Given the description of an element on the screen output the (x, y) to click on. 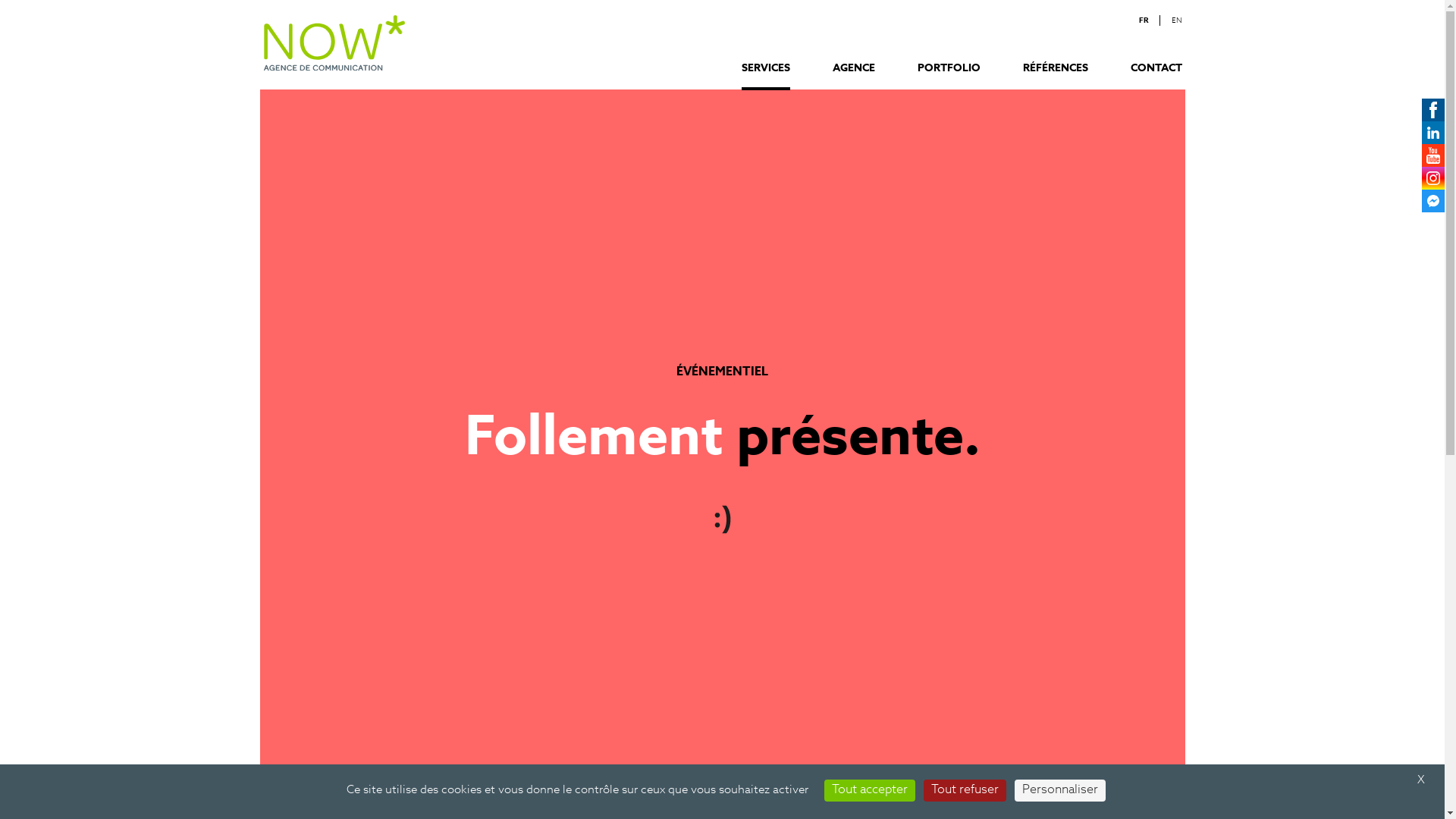
Tout accepter Element type: text (869, 790)
SERVICES Element type: text (765, 76)
AGENCE Element type: text (853, 76)
YouTube Element type: hover (1432, 155)
Tout refuser Element type: text (964, 790)
Instagram Element type: hover (1432, 177)
CONTACT Element type: text (1156, 76)
Personnaliser Element type: text (1059, 790)
PORTFOLIO Element type: text (948, 76)
FR Element type: text (1143, 20)
EN Element type: text (1175, 20)
Messenger Element type: hover (1432, 200)
LinkedIn Element type: hover (1432, 132)
Facebook Element type: hover (1432, 109)
